Given the description of an element on the screen output the (x, y) to click on. 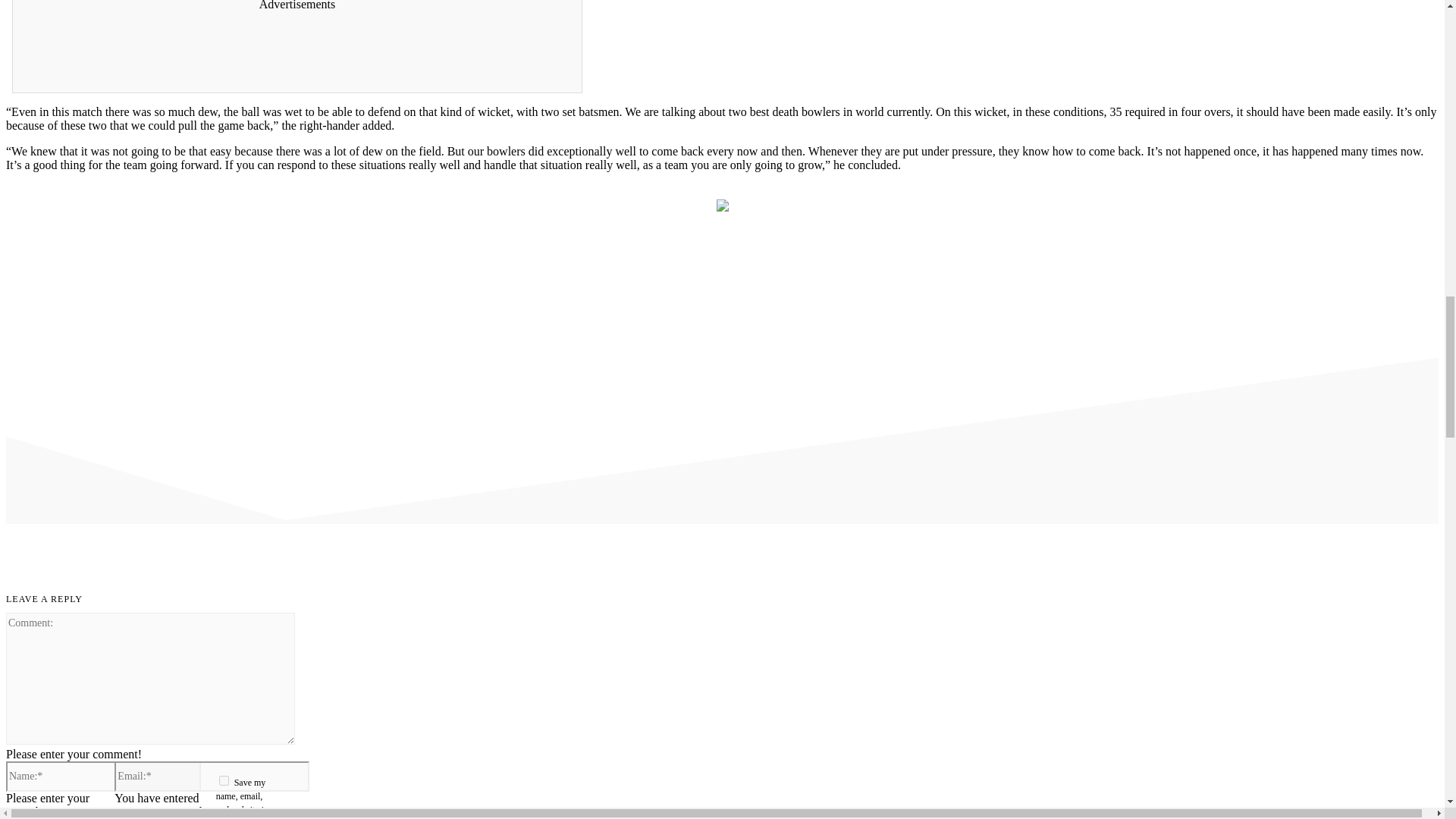
yes (223, 780)
